Given the description of an element on the screen output the (x, y) to click on. 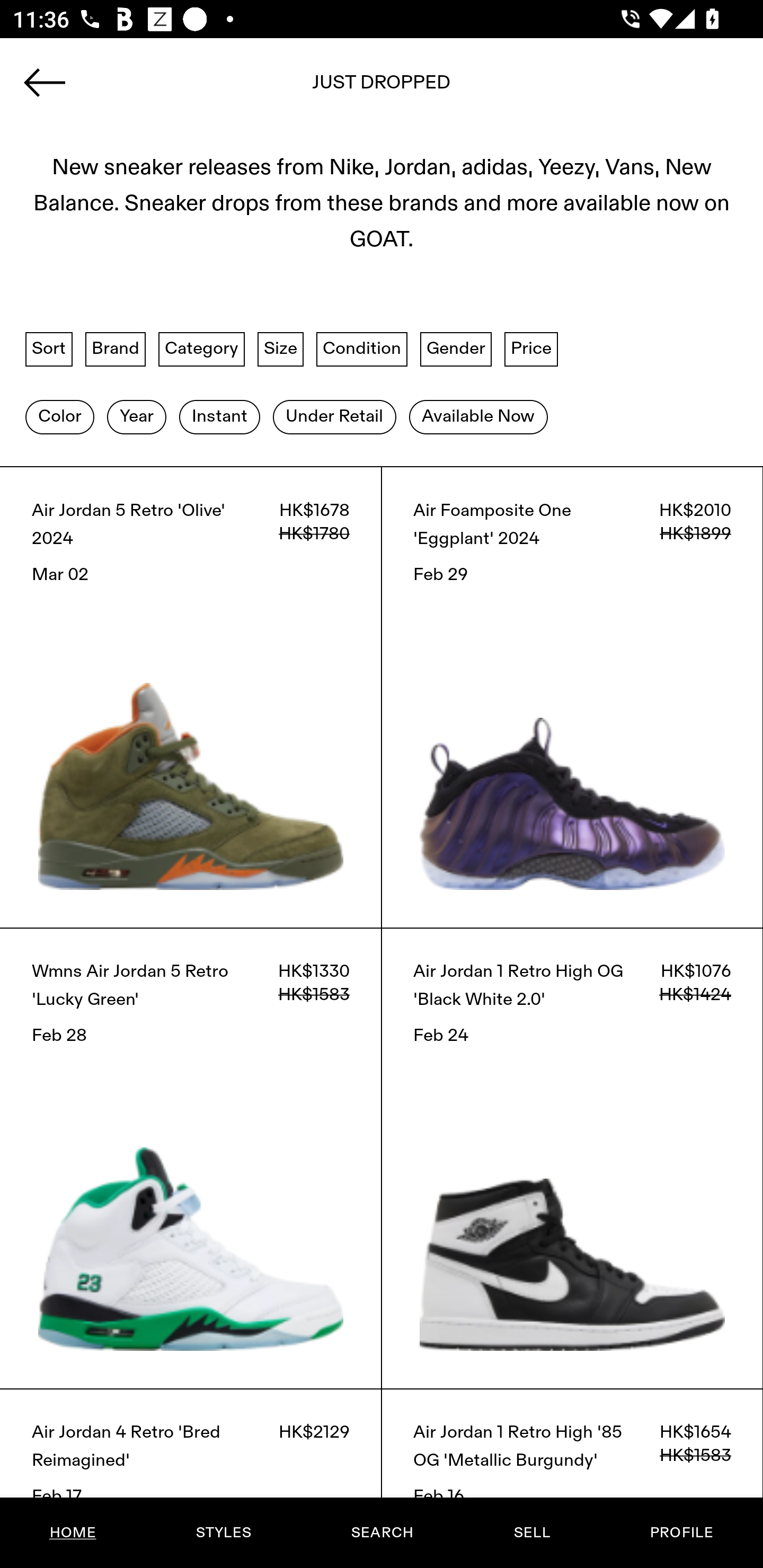
slippers (381, 88)
Sort (48, 348)
Brand (115, 348)
Category (201, 348)
Size (280, 348)
Condition (361, 348)
Gender (455, 348)
Price (530, 348)
Color (59, 416)
Year (136, 416)
Instant (219, 416)
Under Retail (334, 416)
Available Now (477, 416)
HOME (72, 1532)
STYLES (222, 1532)
SEARCH (381, 1532)
SELL (531, 1532)
PROFILE (681, 1532)
